Given the description of an element on the screen output the (x, y) to click on. 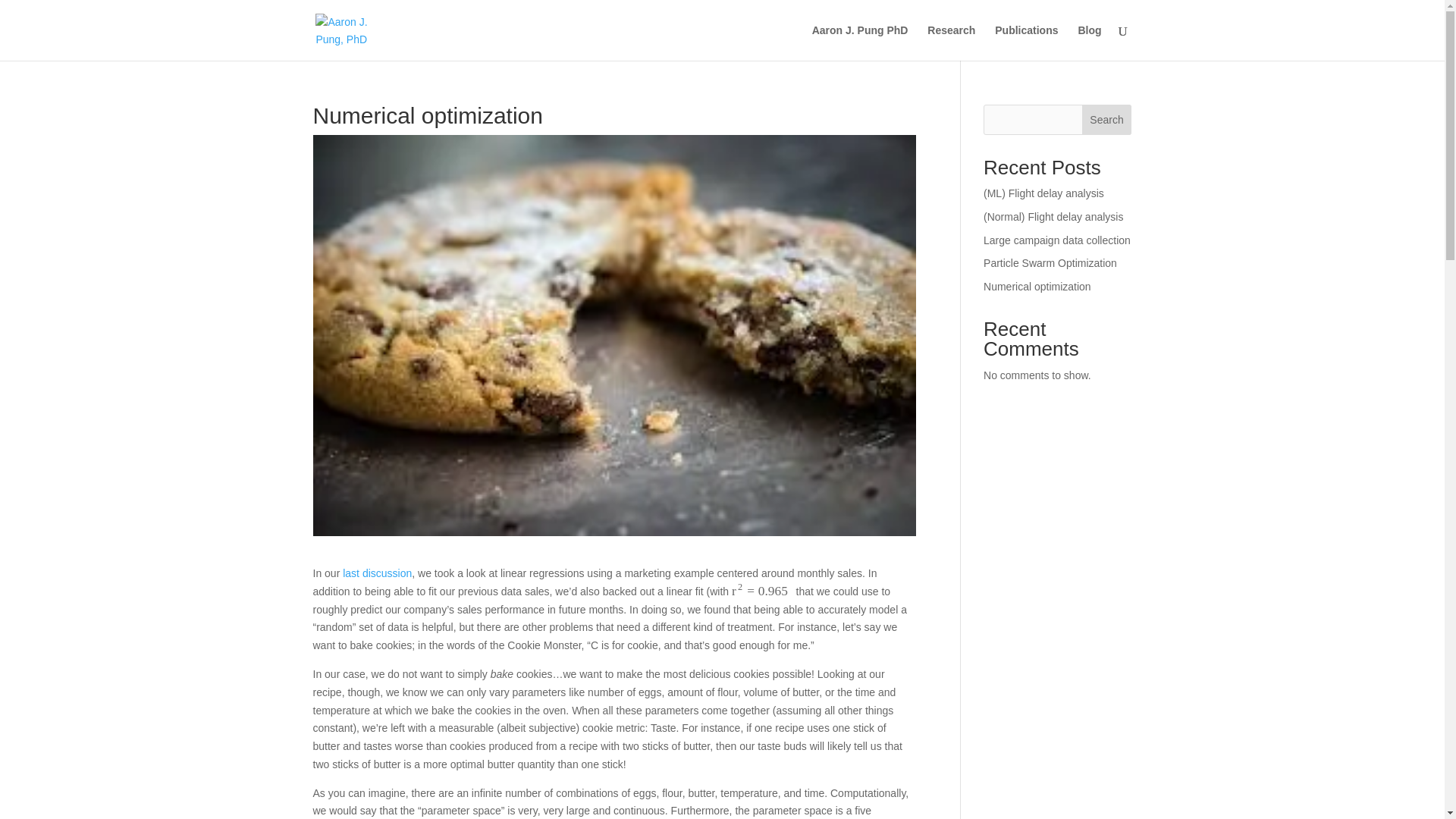
Publications (1026, 42)
Research (951, 42)
Large campaign data collection (1057, 240)
Search (1106, 119)
Particle Swarm Optimization (1050, 263)
Numerical optimization (1037, 286)
Aaron J. Pung PhD (860, 42)
last discussion (377, 573)
